Given the description of an element on the screen output the (x, y) to click on. 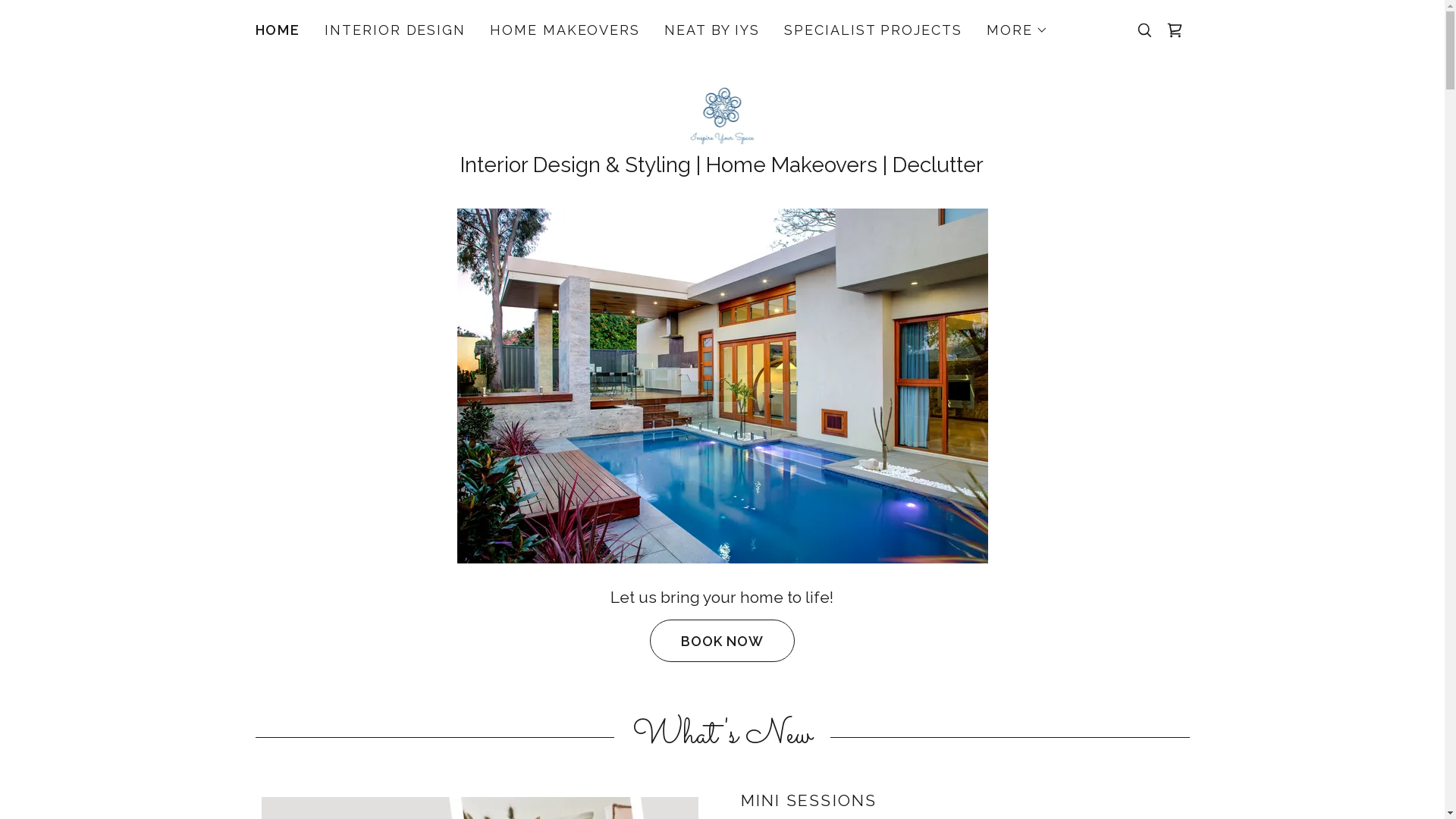
SPECIALIST PROJECTS Element type: text (872, 29)
HOME Element type: text (277, 30)
HOME MAKEOVERS Element type: text (564, 29)
BOOK NOW Element type: text (721, 640)
Inspire Your Space Element type: hover (722, 112)
NEAT BY IYS Element type: text (711, 29)
MORE Element type: text (1017, 30)
INTERIOR DESIGN Element type: text (395, 29)
